Given the description of an element on the screen output the (x, y) to click on. 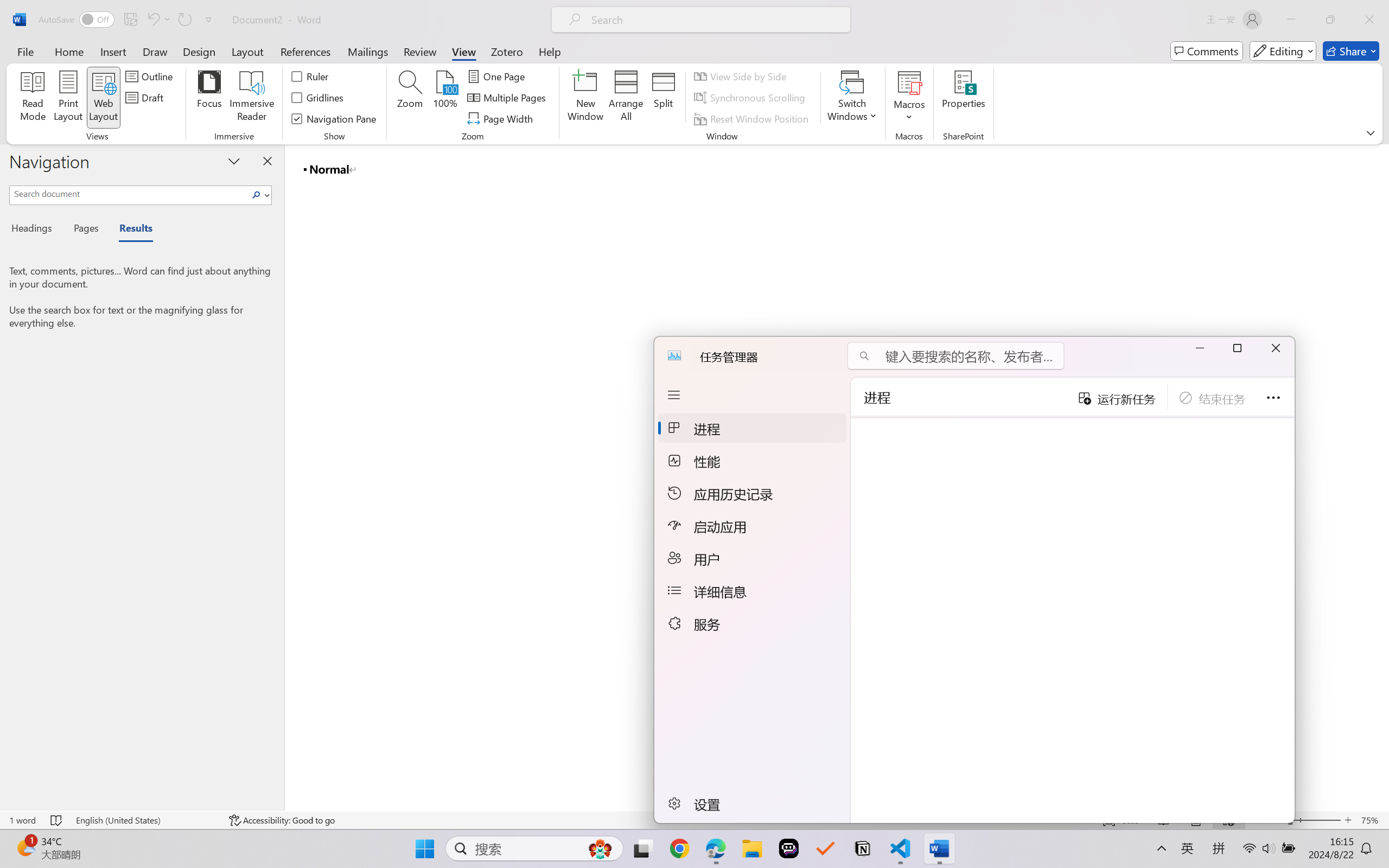
Insert (112, 51)
Synchronous Scrolling (751, 97)
View Side by Side (741, 75)
Help (549, 51)
Microsoft search (715, 19)
Draw (155, 51)
Customize Quick Access Toolbar (208, 19)
Undo <ApplyStyleToDoc>b__0 (158, 19)
Mailings (367, 51)
